Given the description of an element on the screen output the (x, y) to click on. 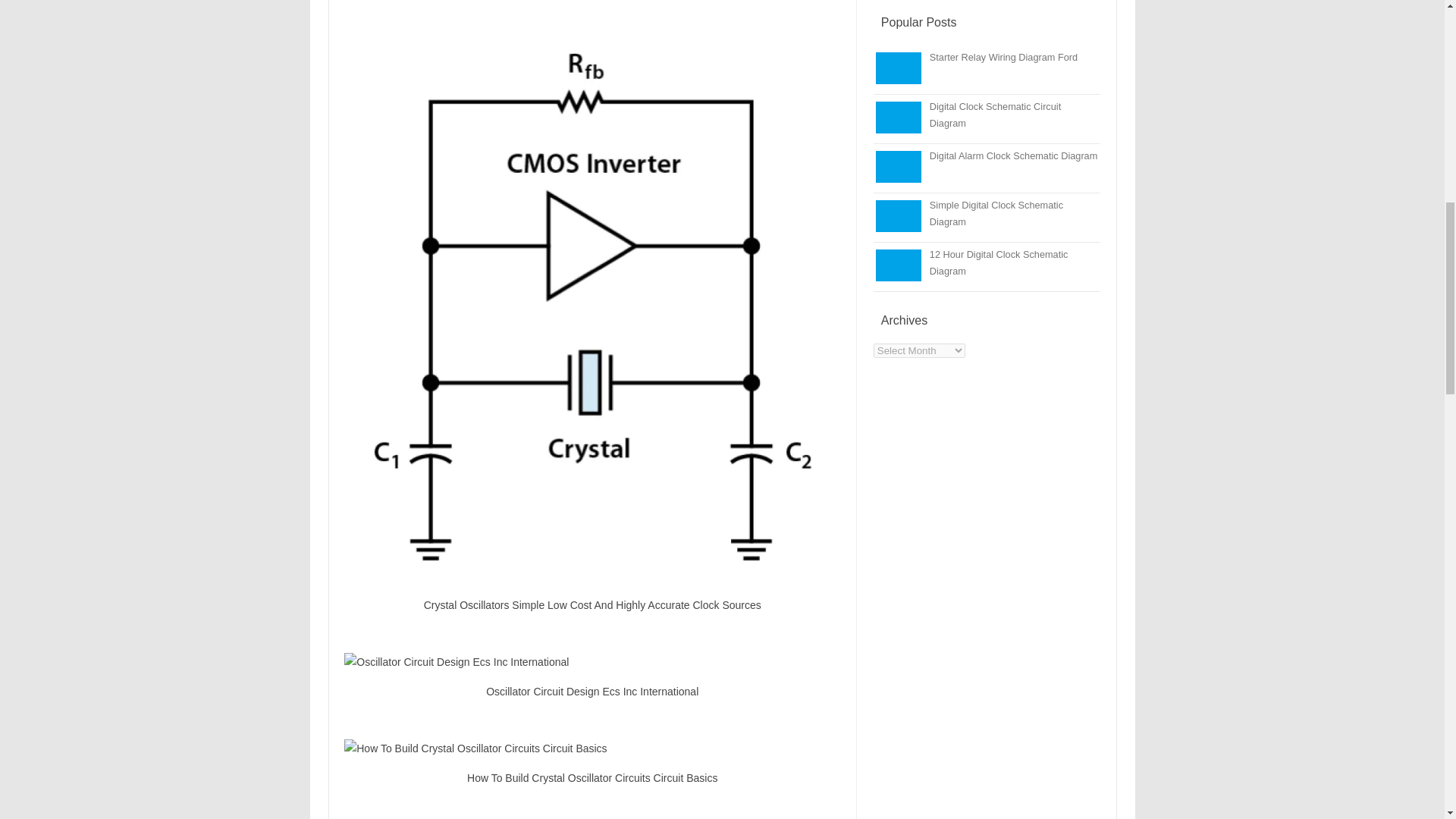
Simple Digital Clock Schematic Diagram (996, 213)
Oscillator Circuit Design Ecs Inc International (591, 661)
Digital Alarm Clock Schematic Diagram (1013, 155)
Digital Clock Schematic Circuit Diagram (995, 114)
How To Build Crystal Oscillator Circuits Circuit Basics (591, 748)
Starter Relay Wiring Diagram Ford (1003, 57)
12 Hour Digital Clock Schematic Diagram (999, 262)
